Given the description of an element on the screen output the (x, y) to click on. 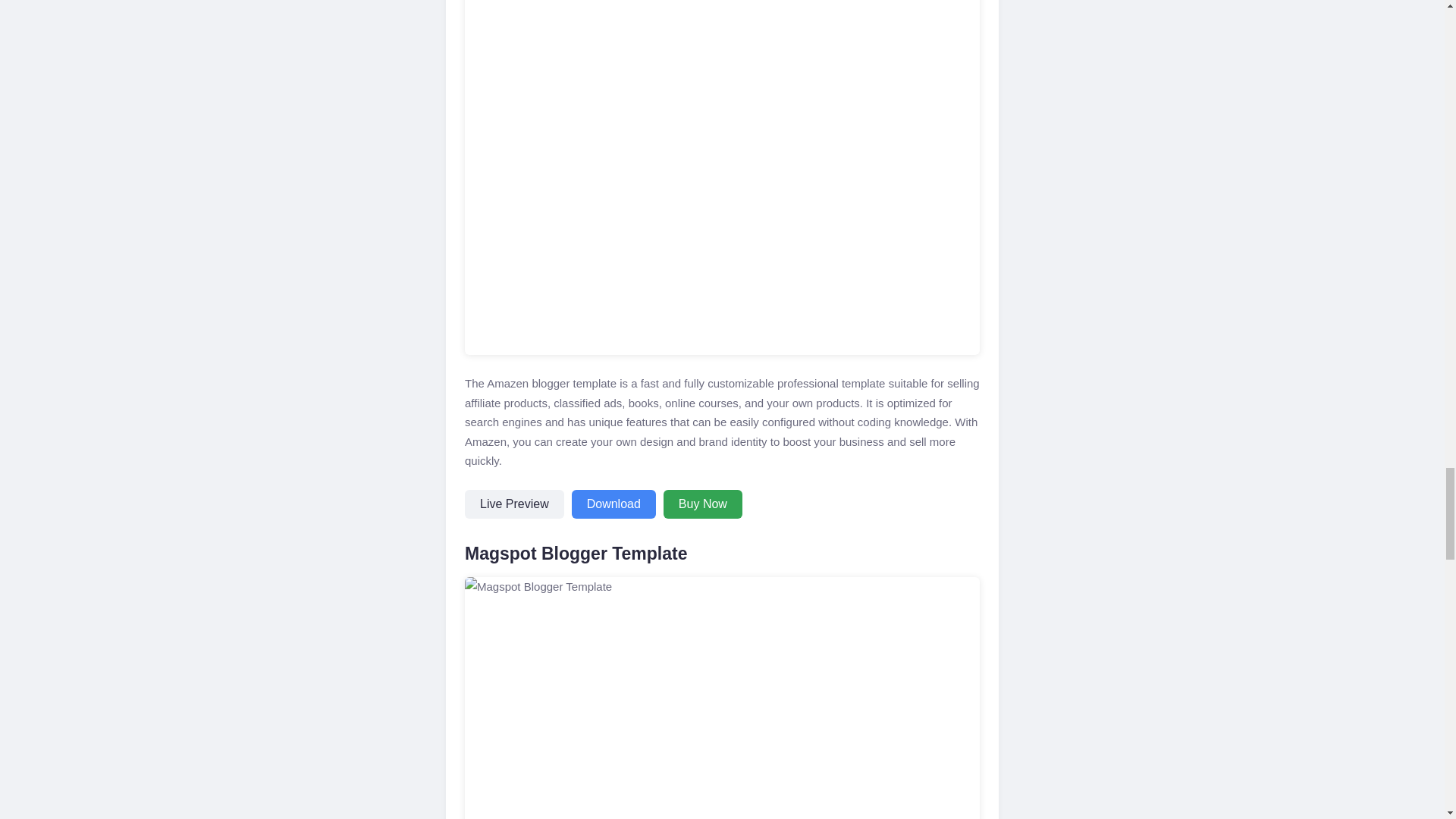
Live Preview (514, 503)
Magspot Blogger Template (721, 698)
